Given the description of an element on the screen output the (x, y) to click on. 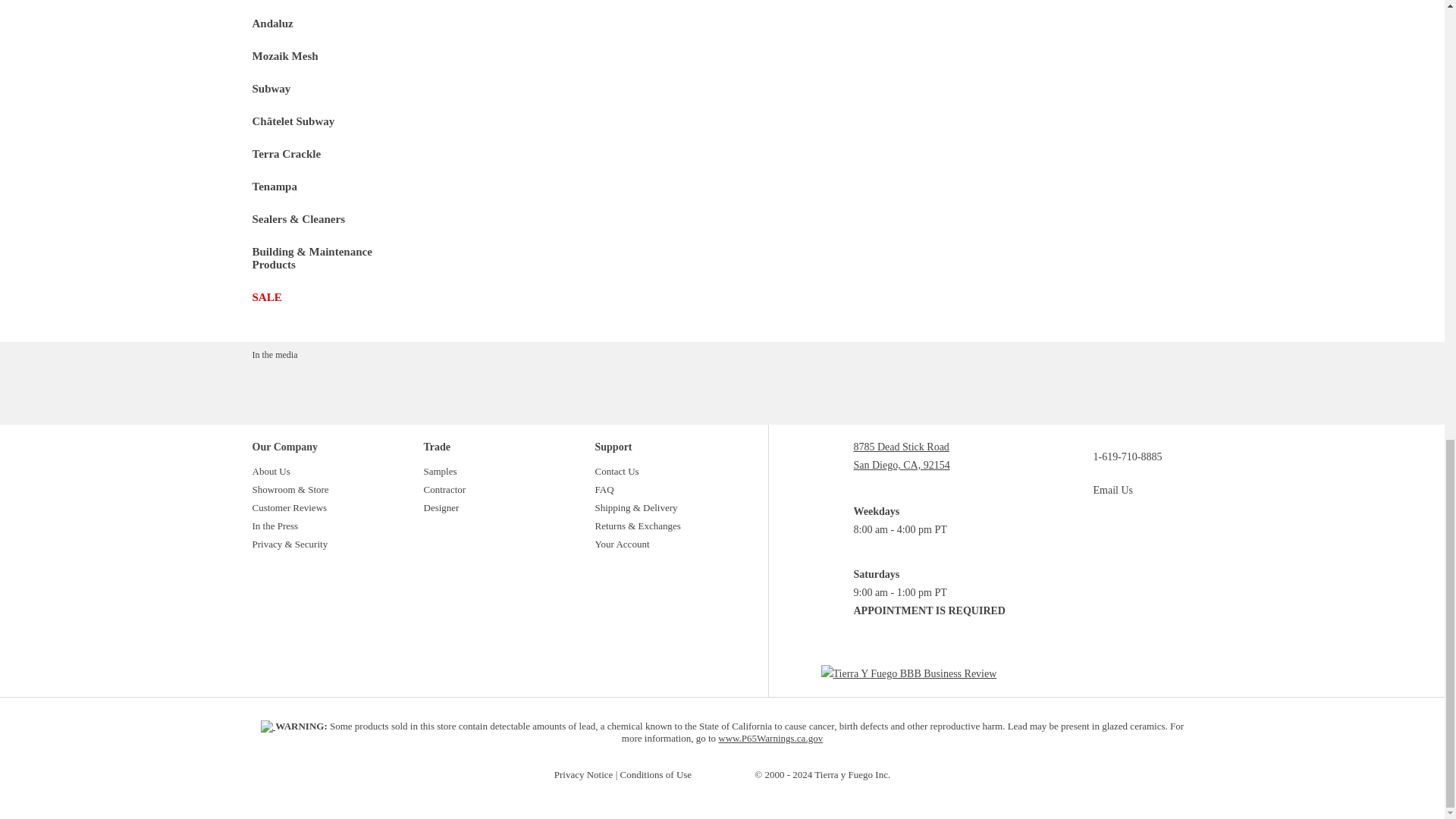
Open at Google Maps (929, 456)
Follow Us on Pinterest (1089, 593)
Follow Us on Twitter (1127, 593)
Follow Us on Instagram (1107, 593)
Follow Us on Facebook (1069, 593)
Follow Us on Flickr (1145, 593)
Tierra Y Fuego BBB Business Review (929, 674)
